Given the description of an element on the screen output the (x, y) to click on. 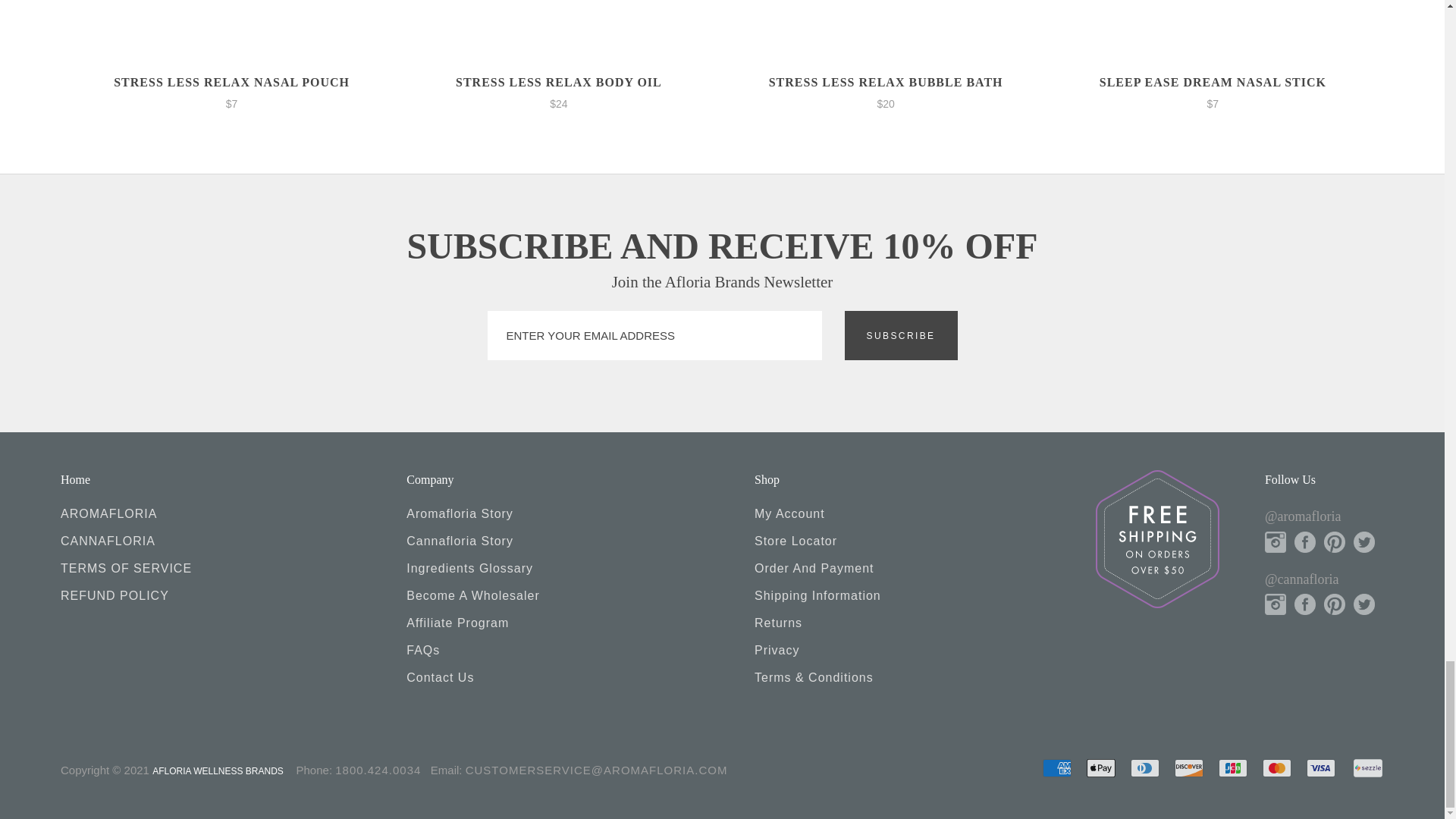
MASTERCARD (1276, 768)
DISCOVER (1189, 768)
JCB (1232, 768)
APPLE PAY (1100, 768)
VISA (1320, 768)
AMERICAN EXPRESS (1056, 768)
DINERS CLUB (1144, 768)
